Given the description of an element on the screen output the (x, y) to click on. 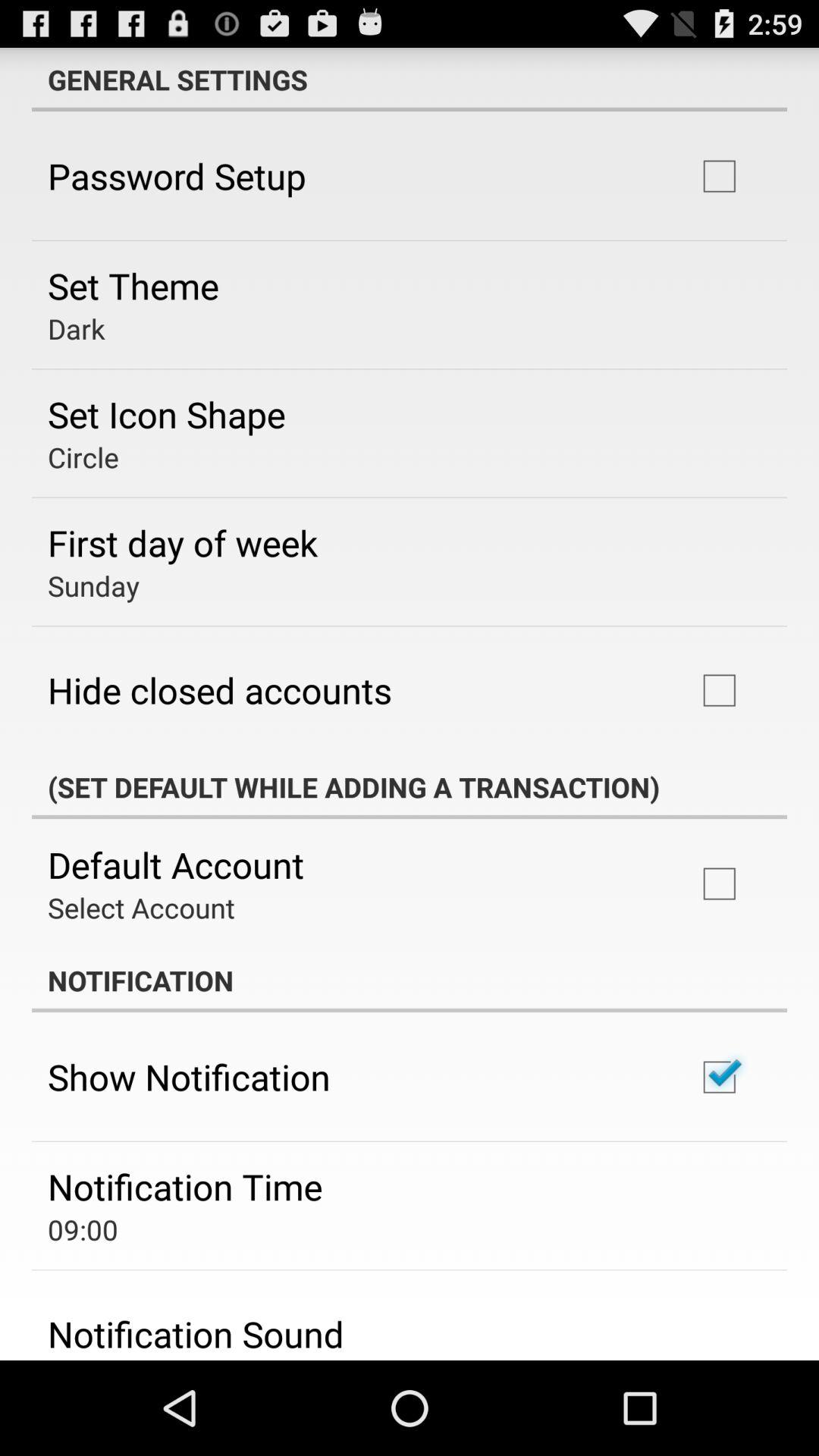
scroll until the show notification app (188, 1076)
